Given the description of an element on the screen output the (x, y) to click on. 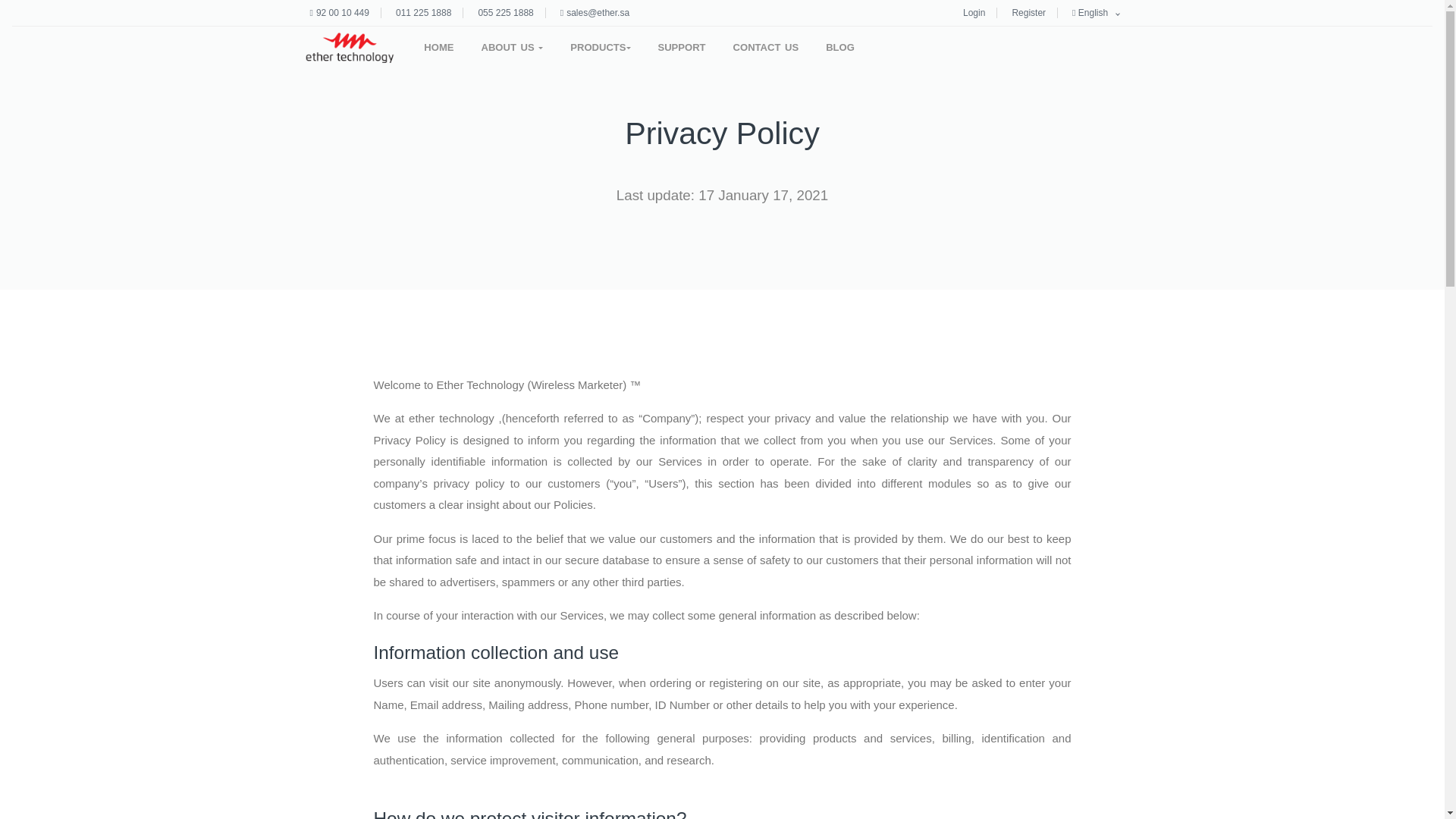
ABOUT US (512, 47)
Register (1028, 12)
HOME (438, 47)
PRODUCTS (599, 47)
CONTACT US (765, 47)
92 00 10 449 (342, 12)
Login (973, 12)
BLOG (839, 47)
SUPPORT (682, 47)
011 225 1888 (423, 12)
055 225 1888 (504, 12)
